Given the description of an element on the screen output the (x, y) to click on. 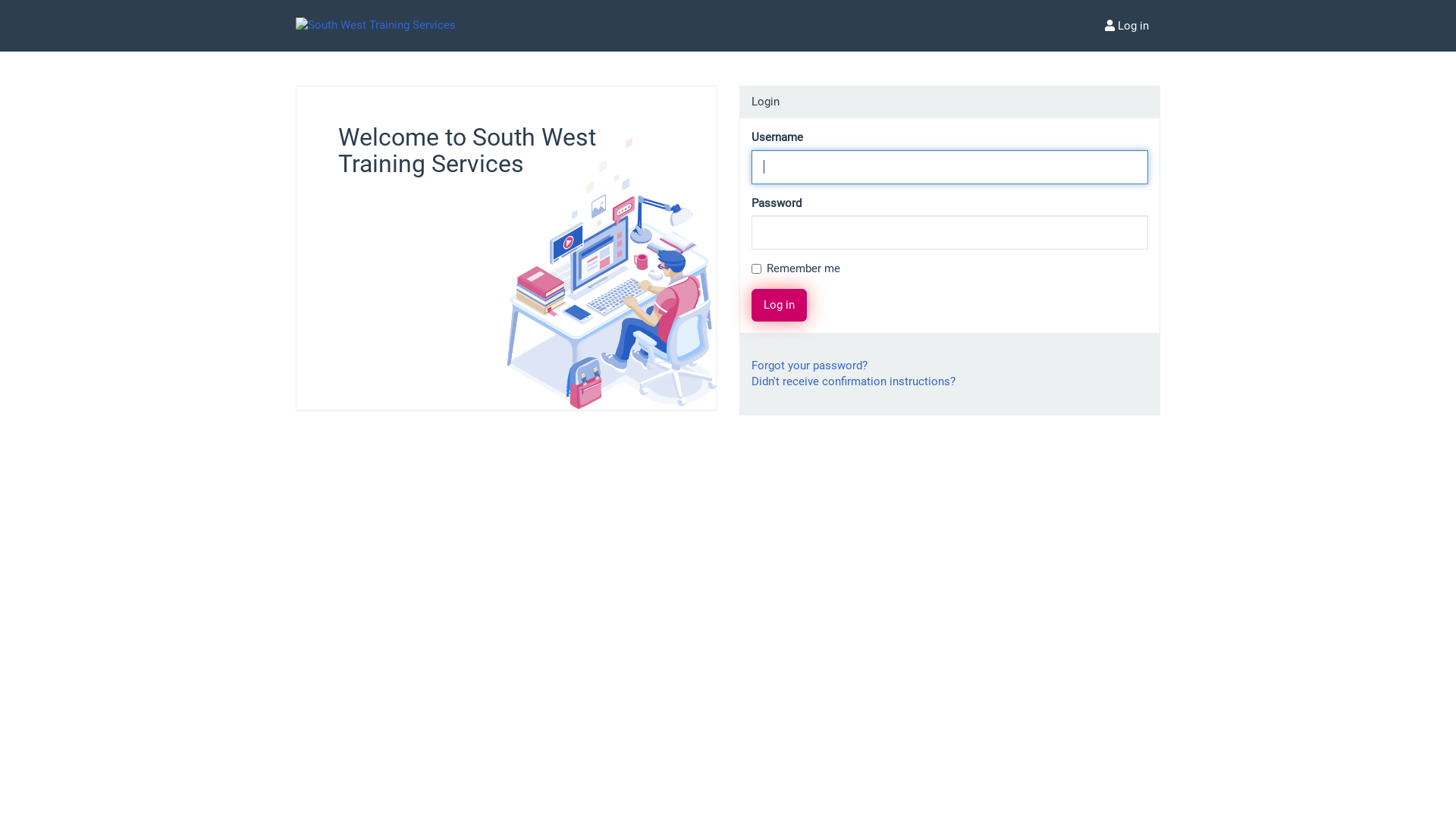
Didn't receive confirmation instructions? Element type: text (853, 381)
Forgot your password? Element type: text (809, 365)
Log in Element type: text (778, 304)
Log in Element type: text (1126, 25)
